Given the description of an element on the screen output the (x, y) to click on. 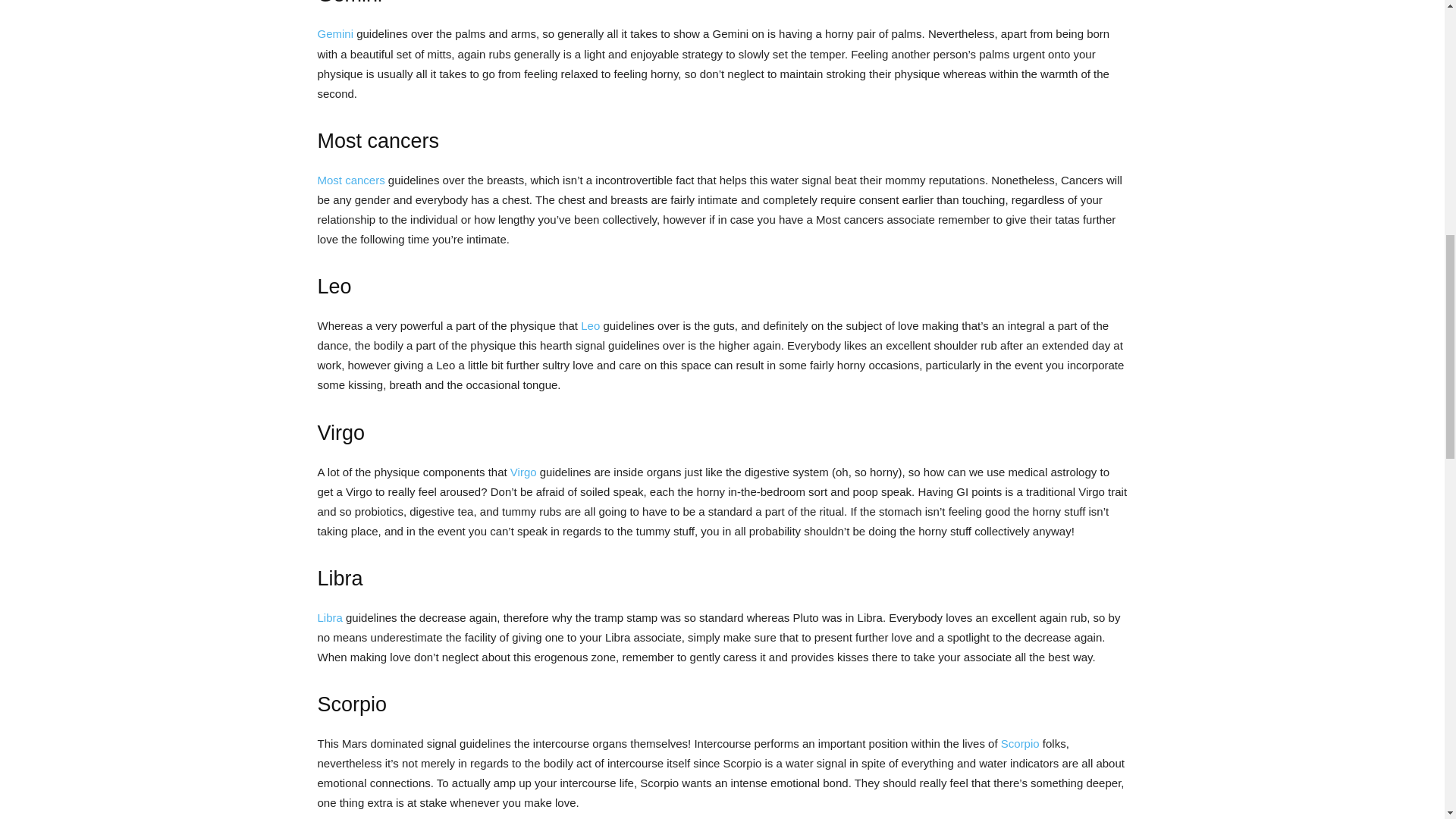
Virgo (524, 472)
Scorpio (1020, 743)
Most cancers (350, 179)
Gemini (335, 33)
Libra (329, 617)
Leo (589, 325)
